Given the description of an element on the screen output the (x, y) to click on. 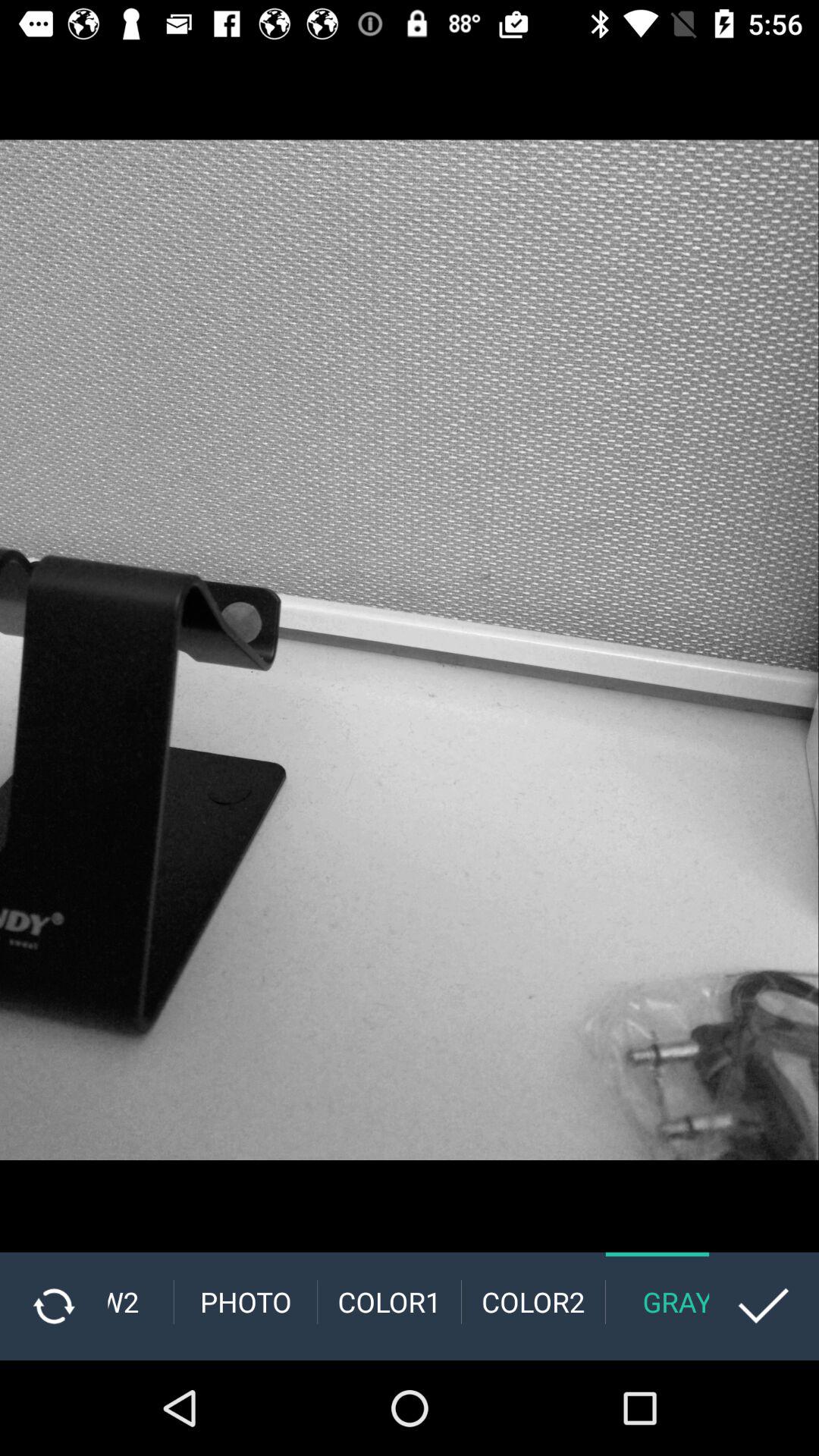
scroll to the photo icon (245, 1301)
